Given the description of an element on the screen output the (x, y) to click on. 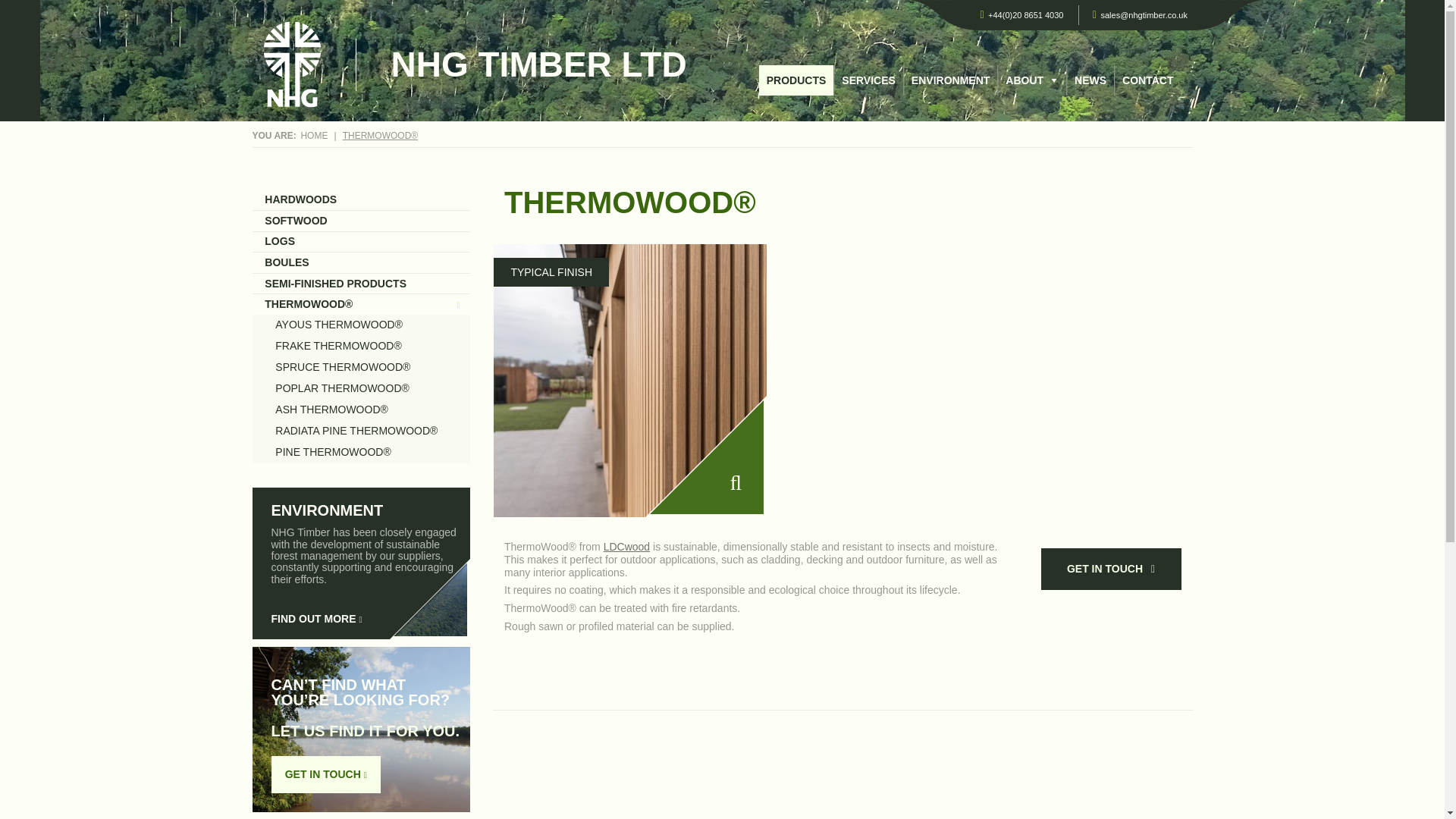
CONTACT (1147, 80)
HOME (313, 135)
PRODUCTS (796, 80)
NHG TIMBER LTD (539, 64)
ENVIRONMENT (950, 80)
SERVICES (868, 80)
ABOUT (1031, 80)
HARDWOODS (360, 199)
NEWS (1090, 80)
